Given the description of an element on the screen output the (x, y) to click on. 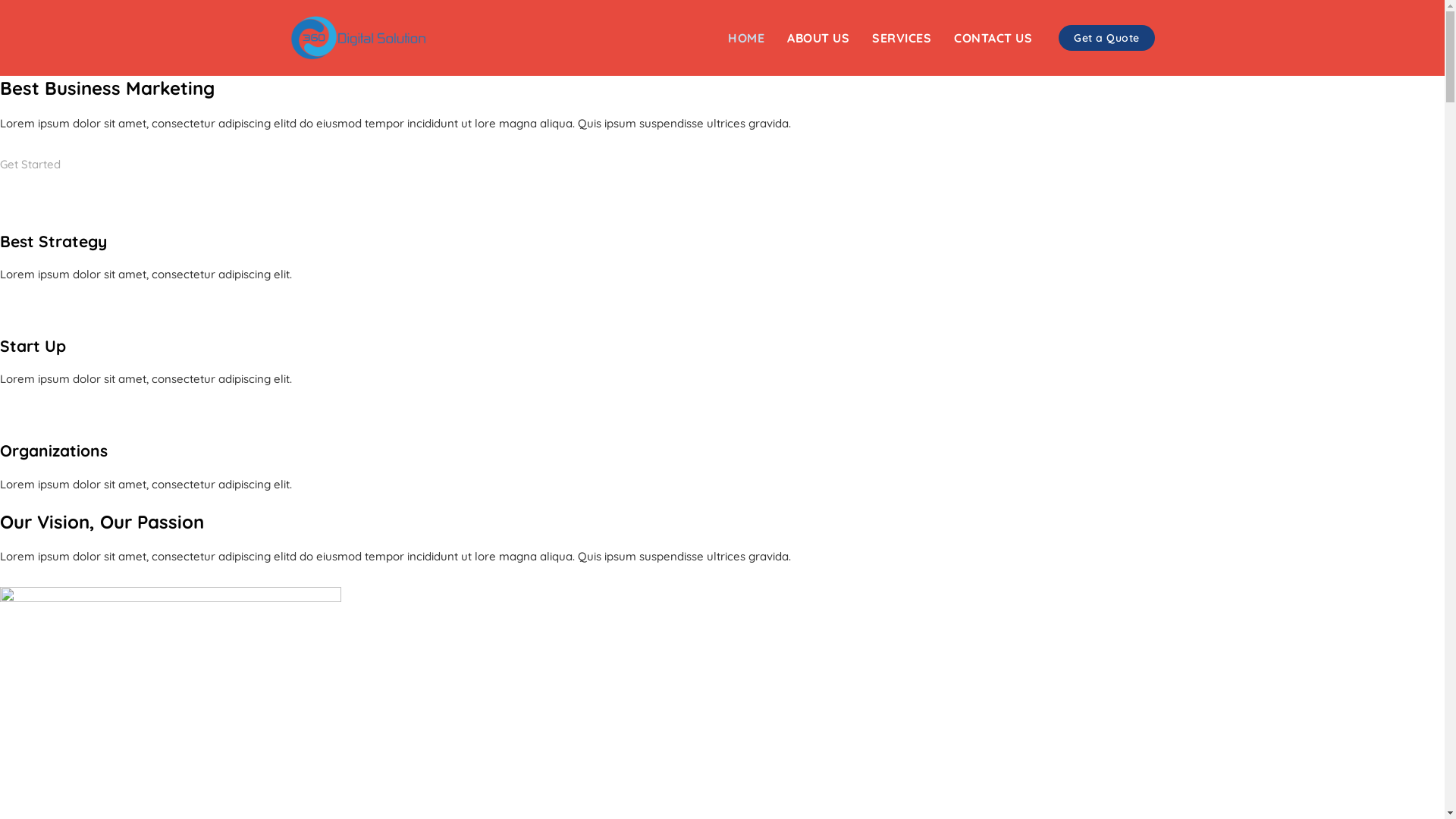
Get a Quote Element type: text (1106, 37)
Start Up Element type: text (32, 345)
HOME Element type: text (751, 37)
CONTACT US Element type: text (992, 37)
ABOUT US Element type: text (817, 37)
Organizations Element type: text (53, 450)
SERVICES Element type: text (901, 37)
Get Started Element type: text (30, 173)
Best Strategy Element type: text (53, 241)
Search Element type: text (96, 6)
